Given the description of an element on the screen output the (x, y) to click on. 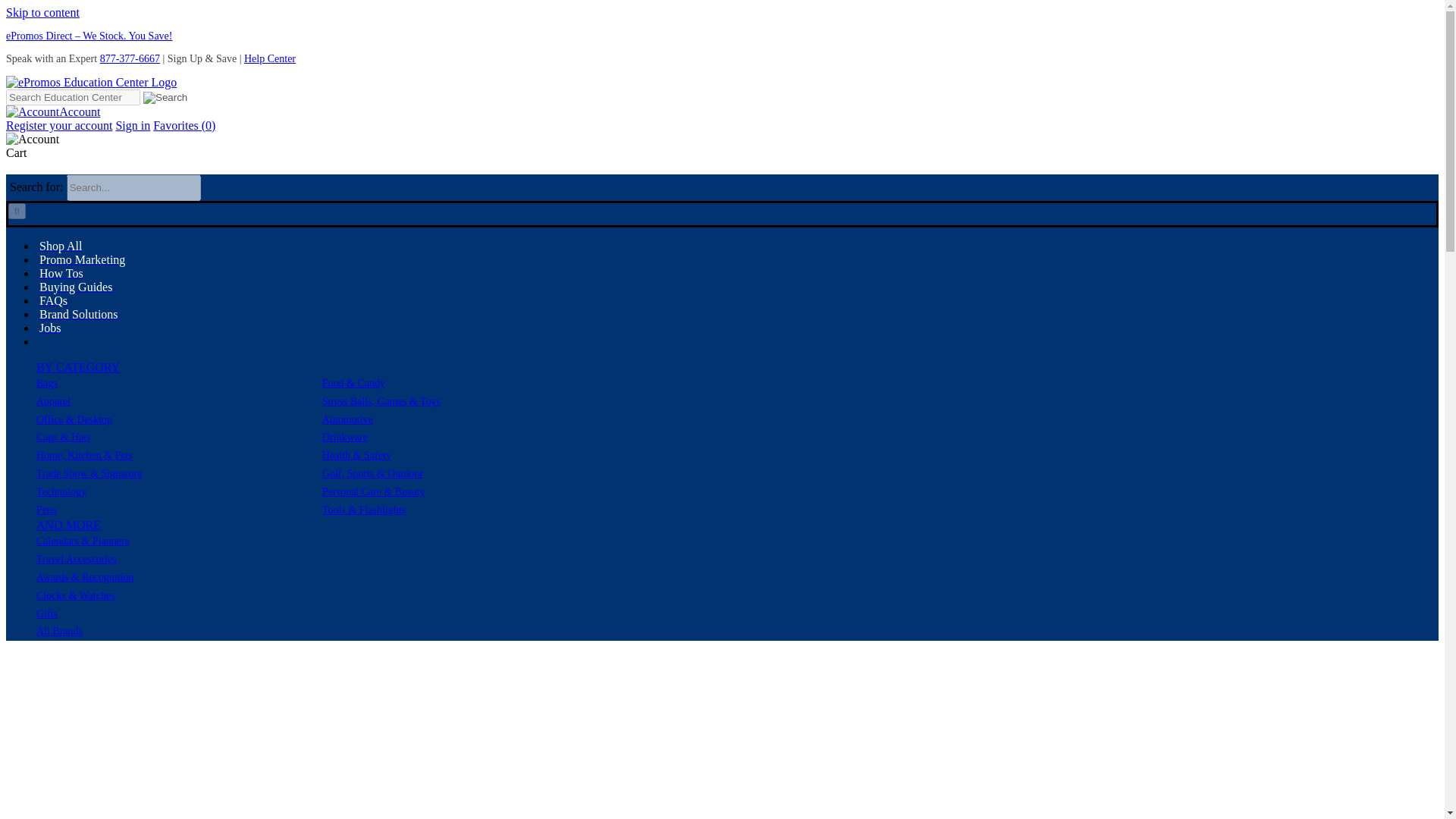
Sign in (132, 124)
Account (52, 111)
BY CATEGORY (77, 367)
Bags (47, 383)
Register your account (58, 124)
FAQs (51, 300)
877-377-6667 (130, 58)
Technology (60, 491)
Automotive (346, 419)
ePromos Direct (89, 35)
Promo Marketing (80, 259)
Brand Solutions (76, 314)
Pens (46, 509)
Shop All (58, 245)
Apparel (52, 401)
